Given the description of an element on the screen output the (x, y) to click on. 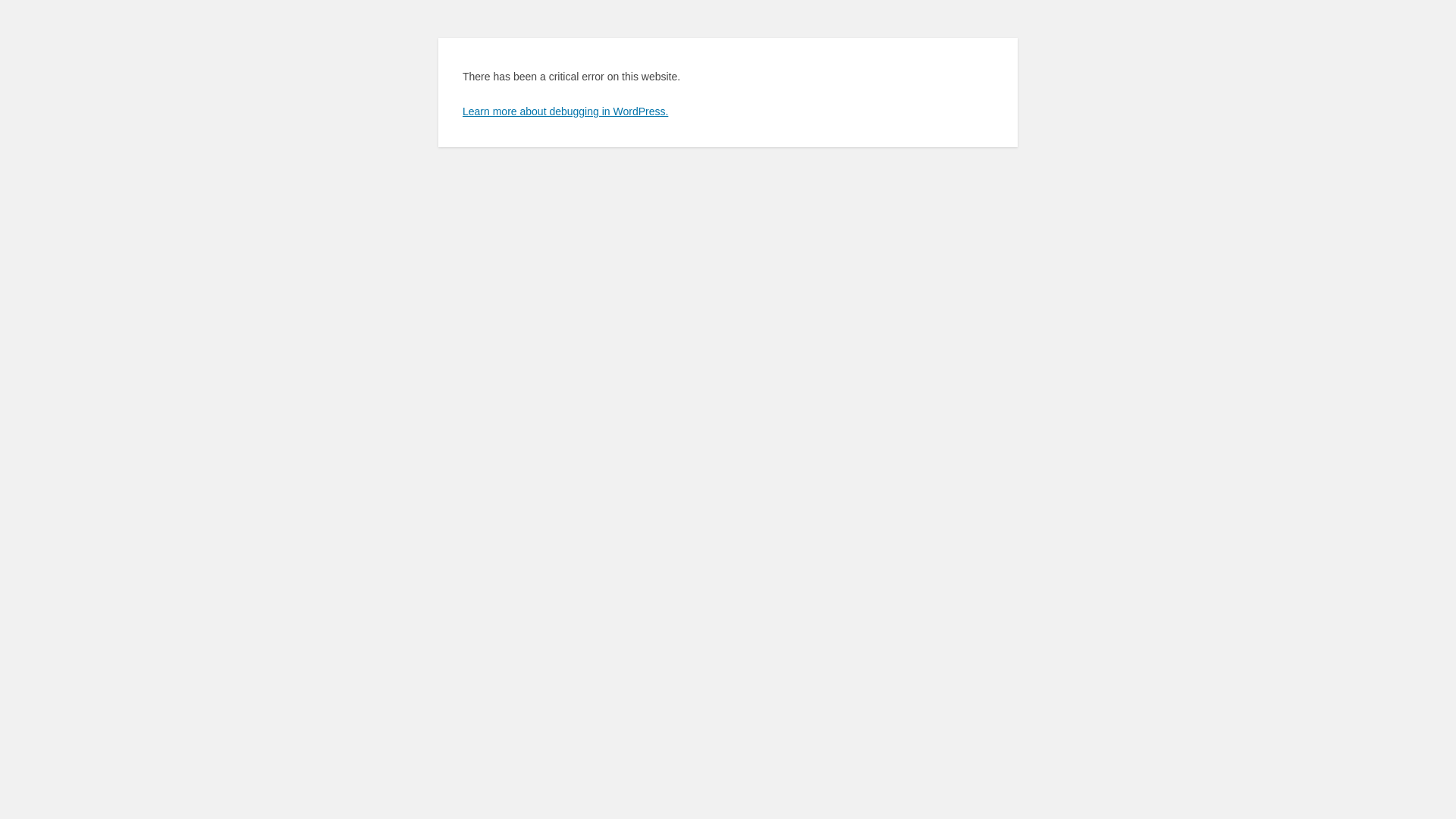
Learn more about debugging in WordPress. Element type: text (565, 111)
